Given the description of an element on the screen output the (x, y) to click on. 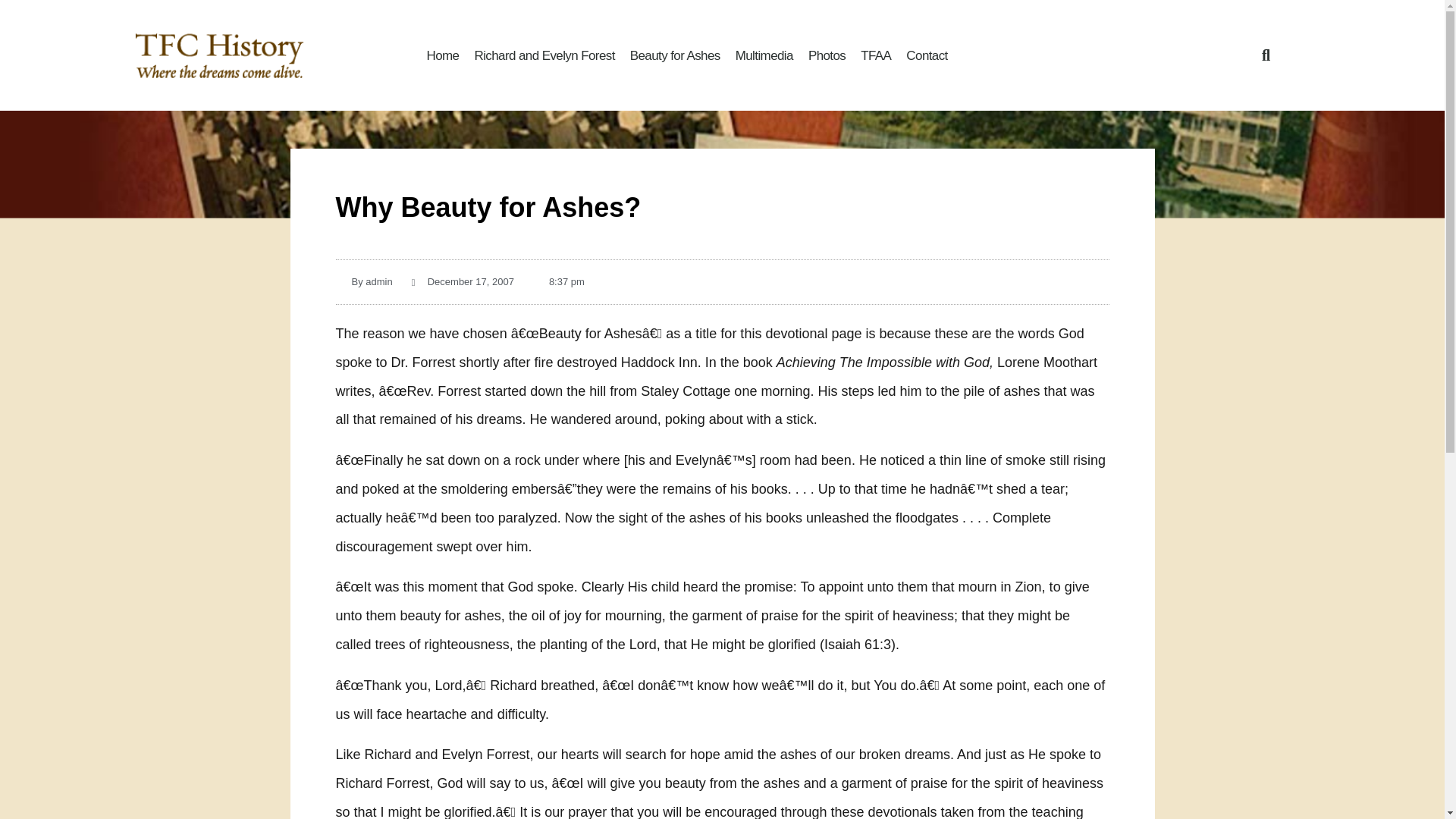
December 17, 2007 (462, 281)
Richard and Evelyn Forest (543, 54)
By admin (362, 281)
Beauty for Ashes (675, 54)
Multimedia (764, 54)
